Given the description of an element on the screen output the (x, y) to click on. 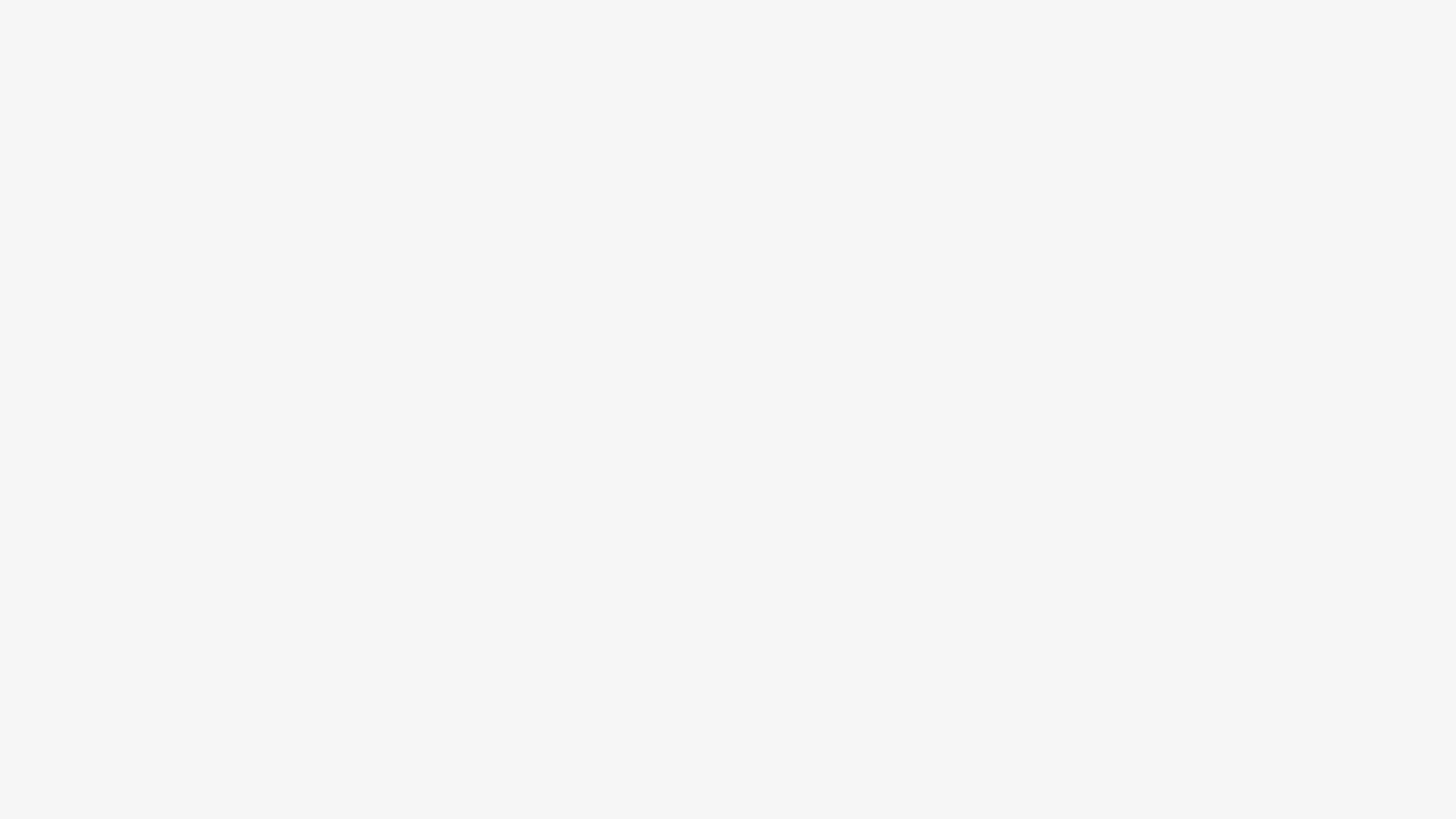
CONTACT Element type: text (335, 196)
About Element type: text (238, 196)
Home Element type: text (56, 196)
Services Element type: text (147, 196)
